Given the description of an element on the screen output the (x, y) to click on. 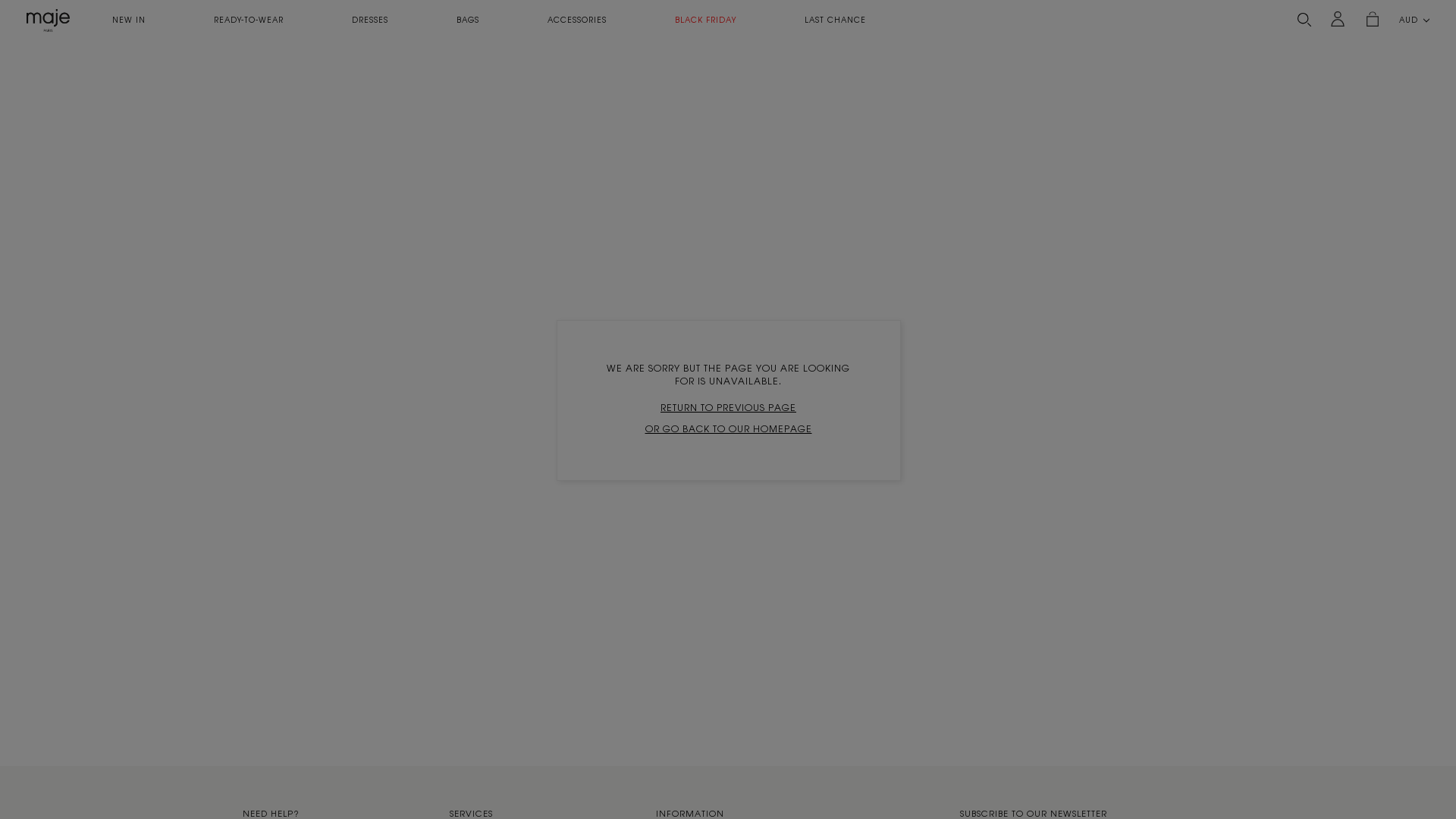
READY-TO-WEAR Element type: text (248, 20)
BAGS Element type: text (467, 20)
RETURN TO PREVIOUS PAGE Element type: text (727, 407)
DRESSES Element type: text (369, 20)
AUD Element type: text (1414, 20)
LAST CHANCE Element type: text (835, 20)
NEW IN Element type: text (128, 20)
Maje Element type: hover (47, 20)
ACCESSORIES Element type: text (576, 20)
BLACK FRIDAY Element type: text (705, 20)
OR GO BACK TO OUR HOMEPAGE Element type: text (727, 429)
